Given the description of an element on the screen output the (x, y) to click on. 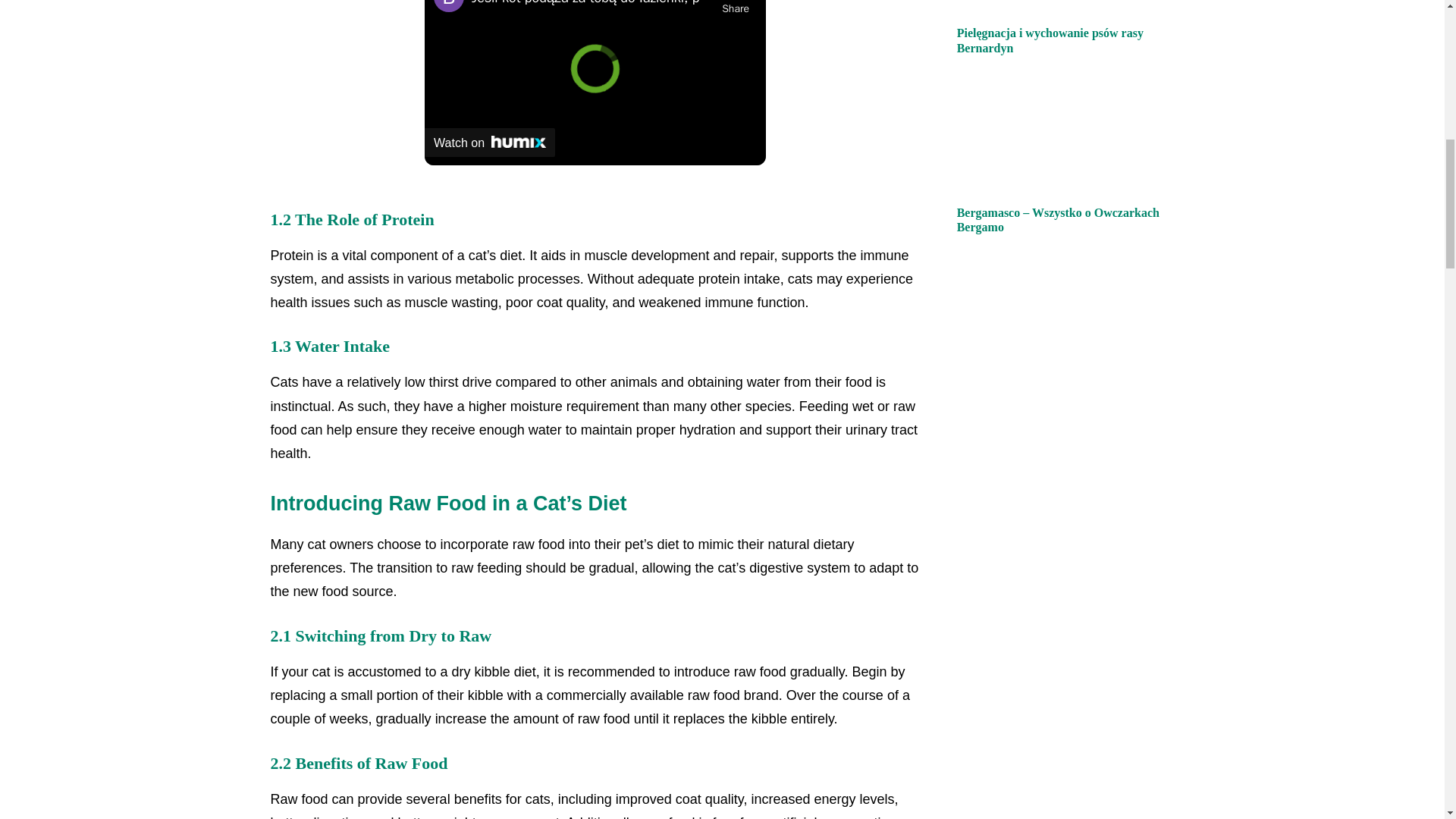
Watch on (489, 142)
share (735, 9)
Share (735, 9)
